Given the description of an element on the screen output the (x, y) to click on. 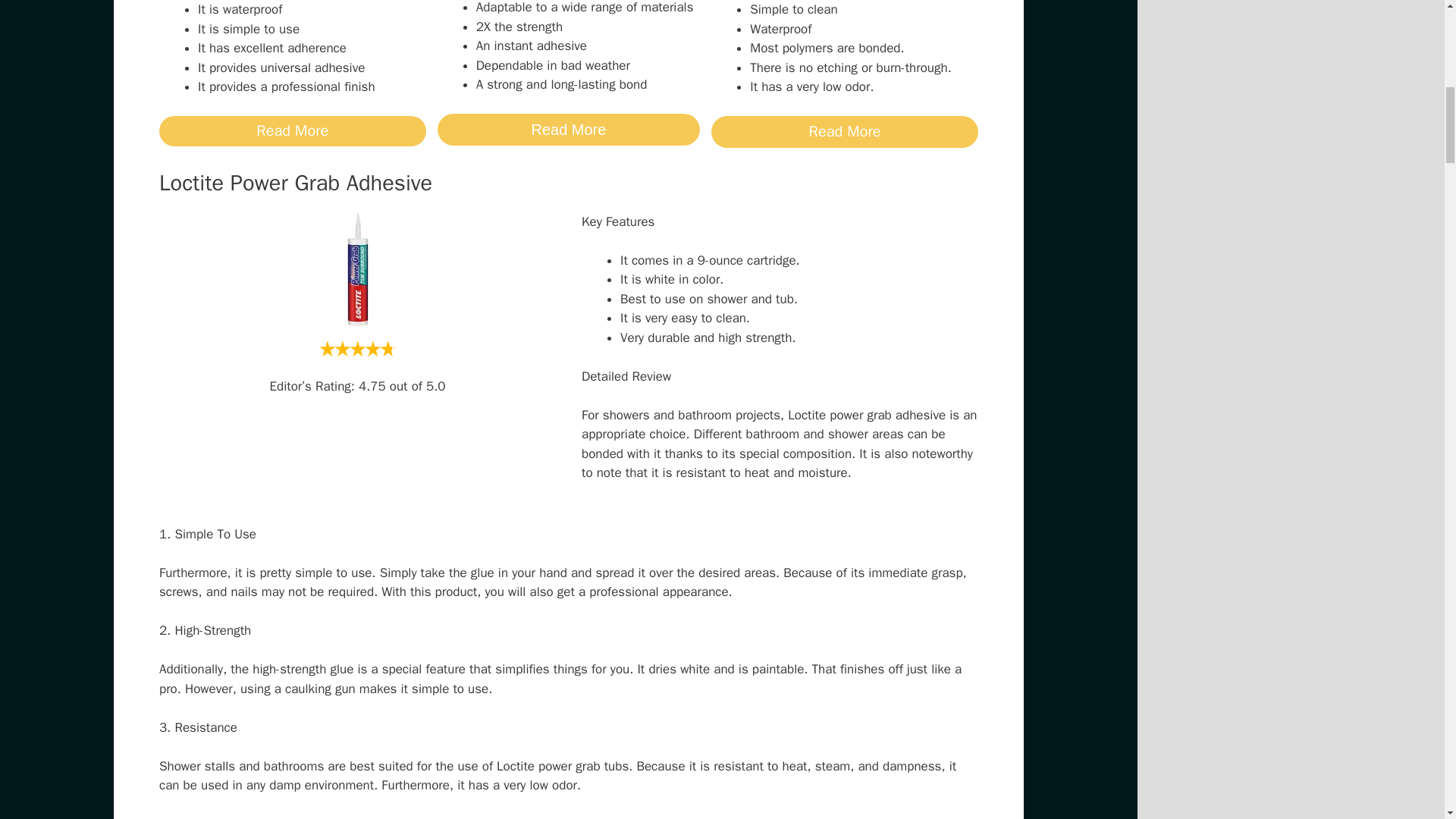
Read More (569, 129)
Read More (844, 132)
Read More (292, 131)
